Given the description of an element on the screen output the (x, y) to click on. 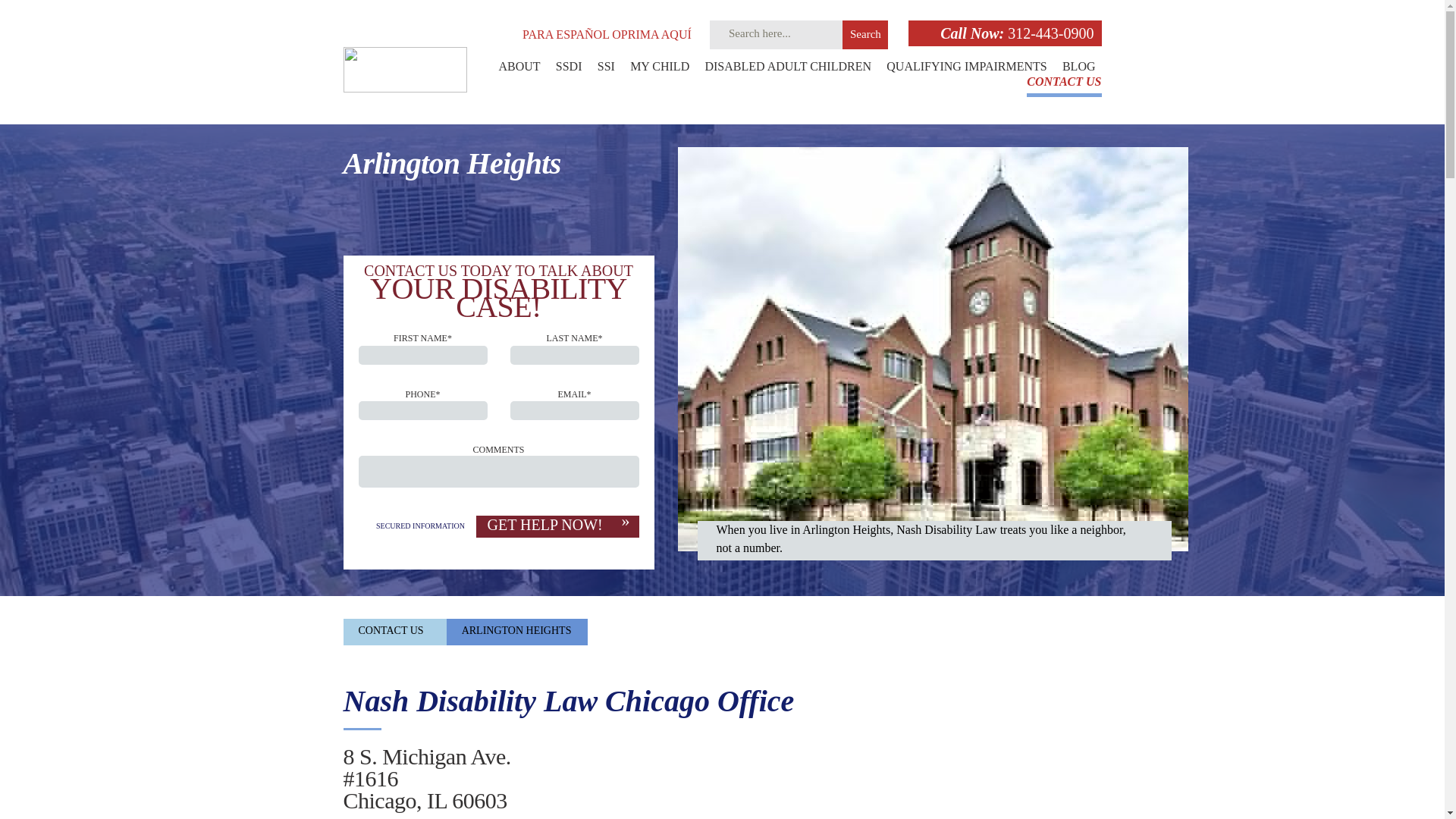
Search (865, 34)
Search (865, 34)
ABOUT (518, 74)
Search (865, 34)
GET HELP NOW! (557, 526)
Nash Disability Law (403, 68)
SSDI (569, 74)
Call Now: 312-443-0900 (1004, 32)
